Given the description of an element on the screen output the (x, y) to click on. 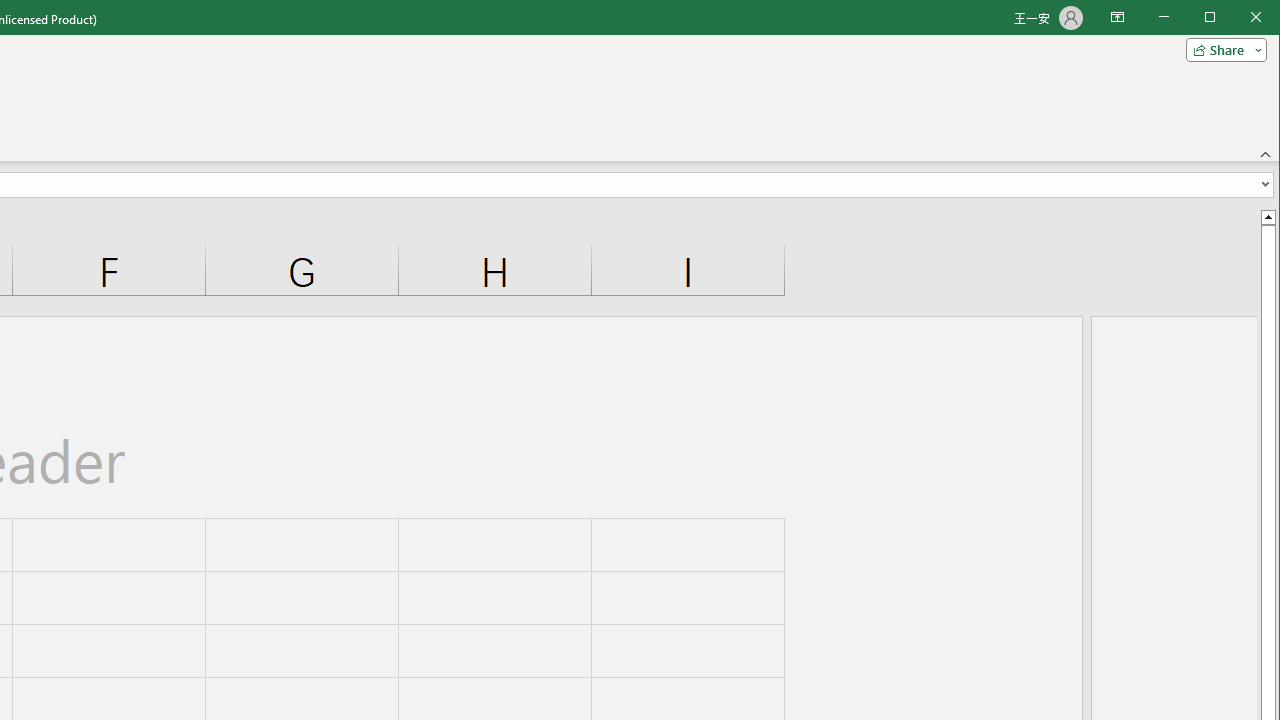
Close (1261, 18)
Maximize (1238, 18)
Minimize (1216, 18)
Line up (1268, 216)
Collapse the Ribbon (1266, 154)
Share (1222, 49)
Ribbon Display Options (1117, 17)
